Given the description of an element on the screen output the (x, y) to click on. 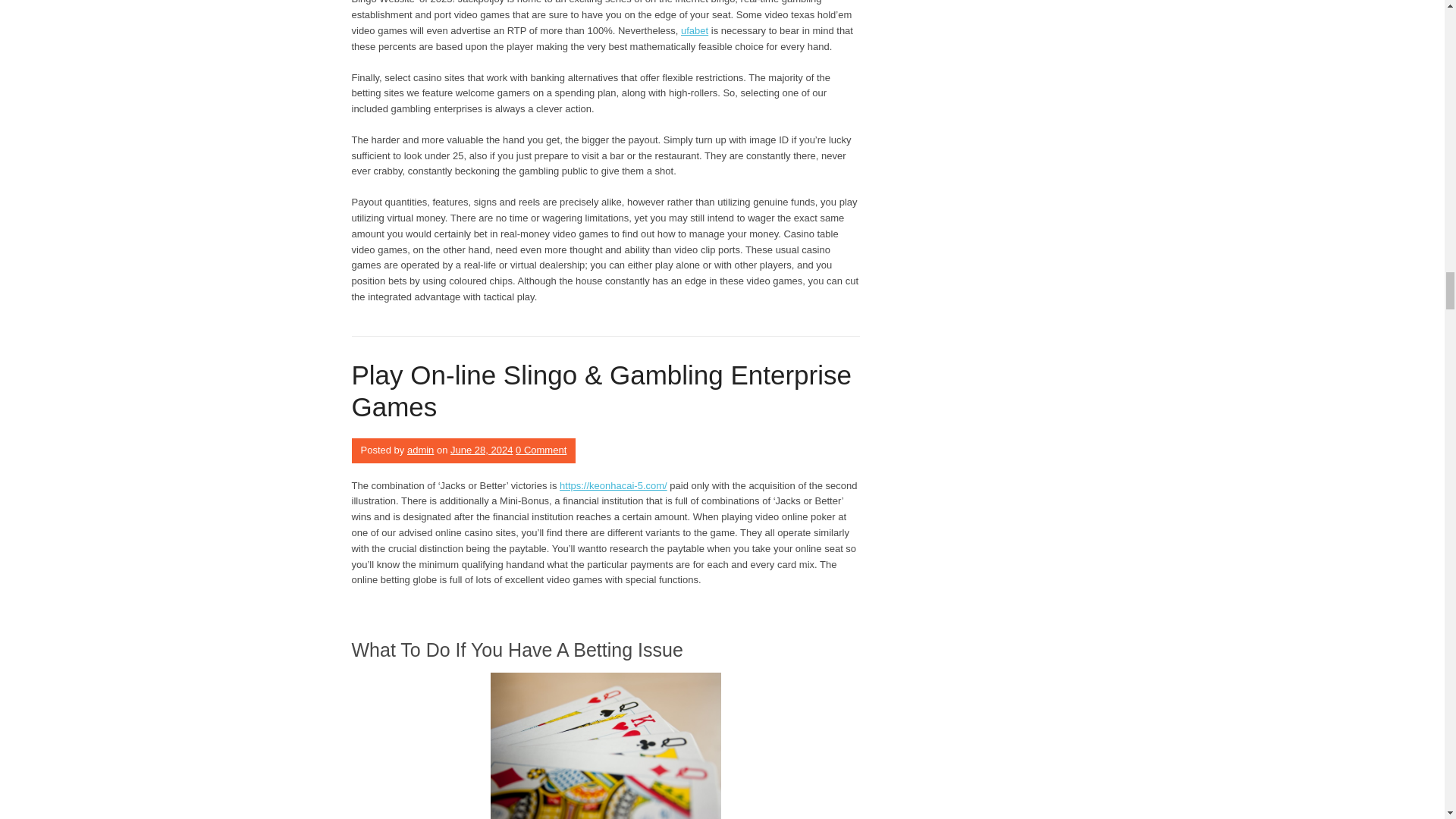
0 Comment (540, 449)
June 28, 2024 (480, 449)
ufabet (694, 30)
admin (420, 449)
